Given the description of an element on the screen output the (x, y) to click on. 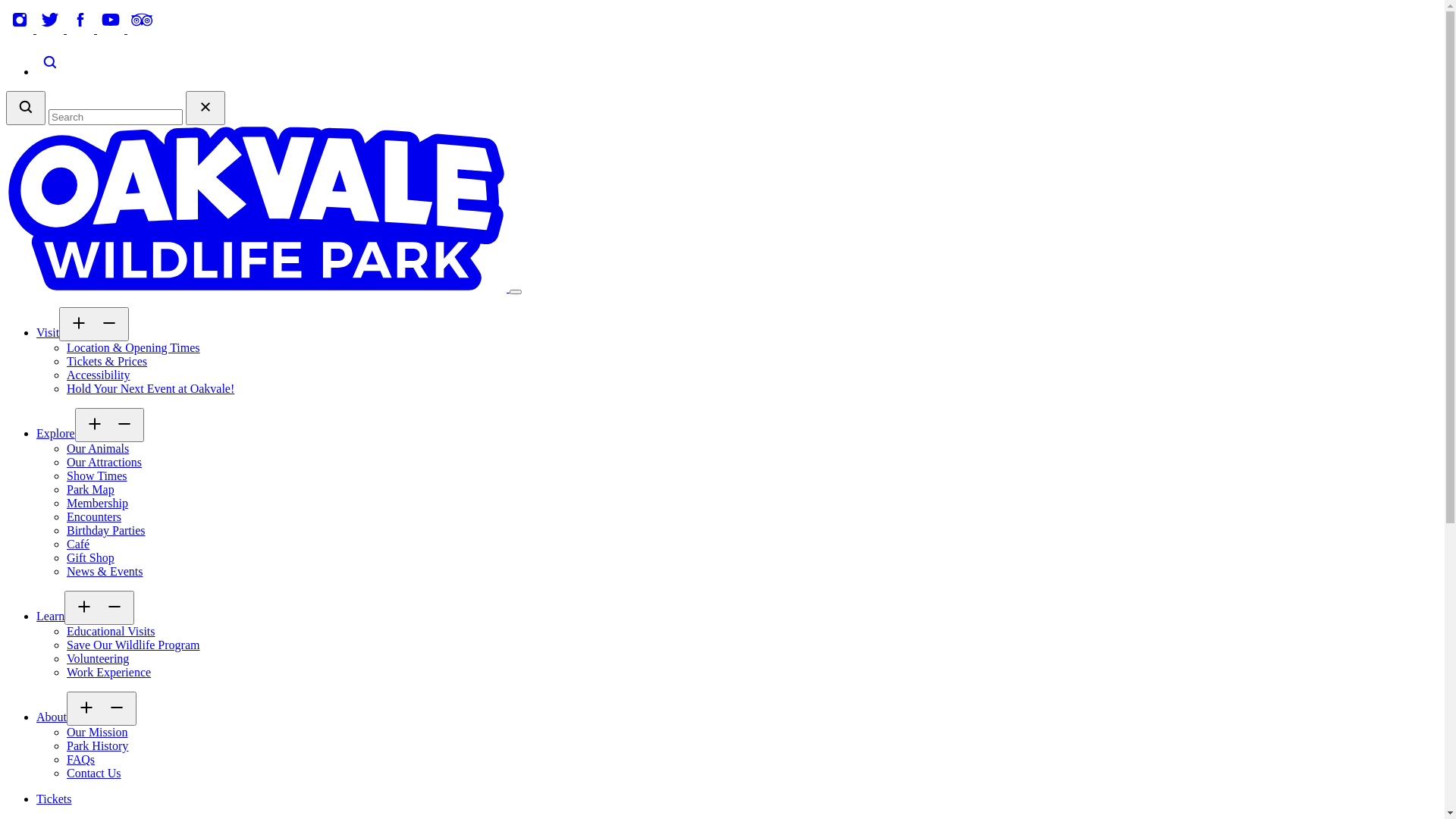
Membership Element type: text (97, 502)
youtube Element type: text (112, 28)
Educational Visits Element type: text (110, 630)
Birthday Parties Element type: text (105, 530)
About Element type: text (51, 716)
Contact Us Element type: text (93, 772)
plus minus Element type: text (93, 324)
Save Our Wildlife Program Element type: text (132, 644)
Our Animals Element type: text (97, 448)
plus minus Element type: text (99, 607)
Explore Element type: text (55, 432)
tripadvisor Element type: text (140, 28)
plus minus Element type: text (109, 424)
Show Times Element type: text (96, 475)
Location & Opening Times Element type: text (133, 347)
Oakvale Wildlife Park logo Element type: text (257, 287)
Our Attractions Element type: text (103, 461)
Tickets & Prices Element type: text (106, 360)
Park Map Element type: text (90, 489)
News & Events Element type: text (104, 570)
plus minus Element type: text (101, 708)
search Element type: text (25, 108)
Volunteering Element type: text (97, 658)
search Element type: text (49, 71)
Park History Element type: text (97, 745)
twitter Element type: text (51, 28)
Hold Your Next Event at Oakvale! Element type: text (150, 388)
Work Experience Element type: text (108, 671)
instagram Element type: text (21, 28)
Gift Shop Element type: text (90, 557)
Learn Element type: text (50, 615)
Accessibility Element type: text (98, 374)
cross Element type: text (205, 108)
Our Mission Element type: text (96, 731)
Encounters Element type: text (93, 516)
Tickets Element type: text (54, 798)
facebook Element type: text (81, 28)
FAQs Element type: text (80, 759)
Visit Element type: text (47, 332)
